Given the description of an element on the screen output the (x, y) to click on. 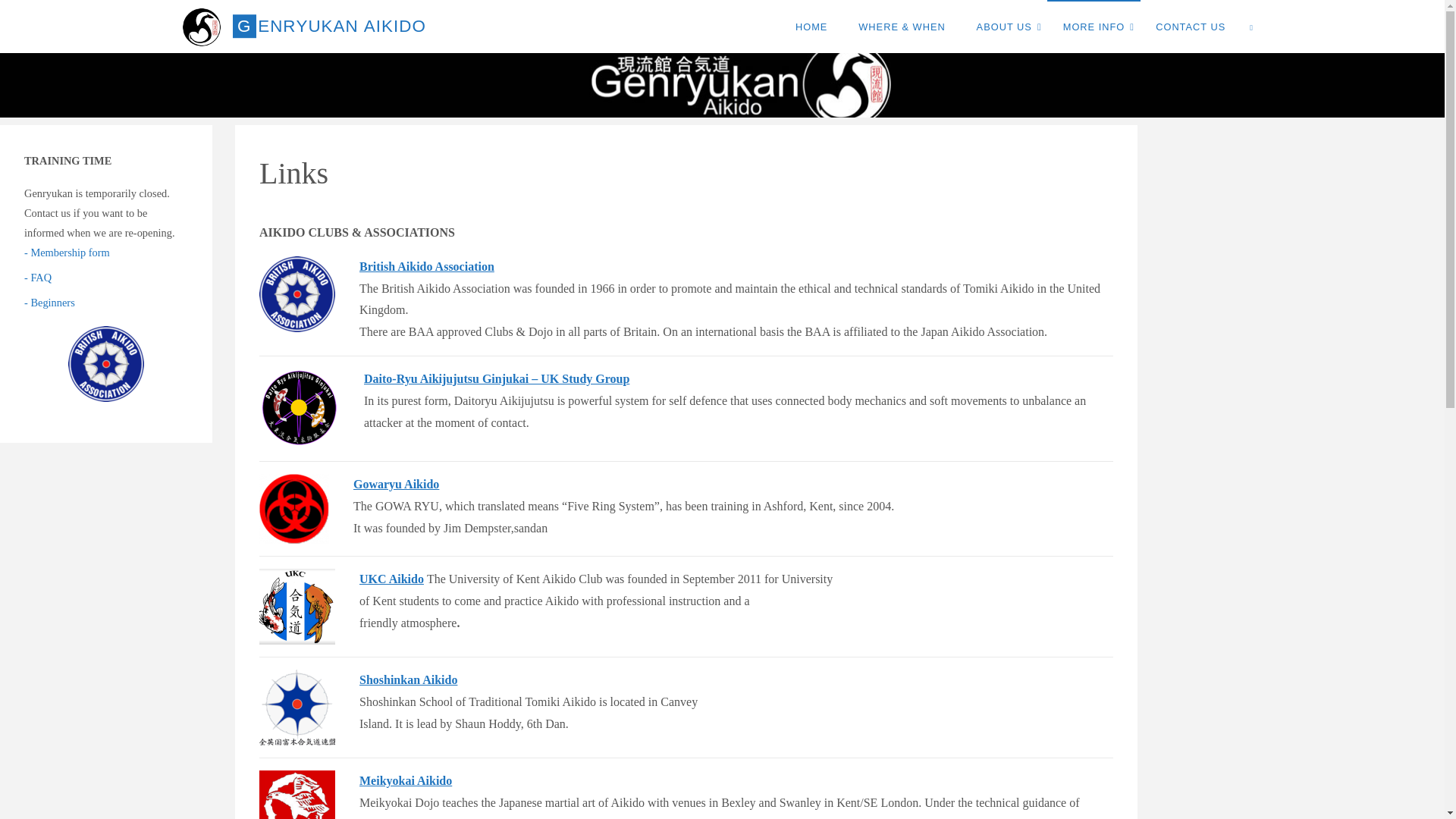
meikyokai (296, 794)
MORE INFO (1093, 26)
Aikido in Dover, Kent (329, 26)
GENRYUKAN AIKIDO (329, 26)
BAB (296, 294)
ZETAR (296, 707)
UKC Aikido (296, 606)
Genryukan Aikido (202, 25)
HOME (810, 26)
ABOUT US (1003, 26)
BAB (299, 408)
Gowaryu Aikido (294, 508)
